Given the description of an element on the screen output the (x, y) to click on. 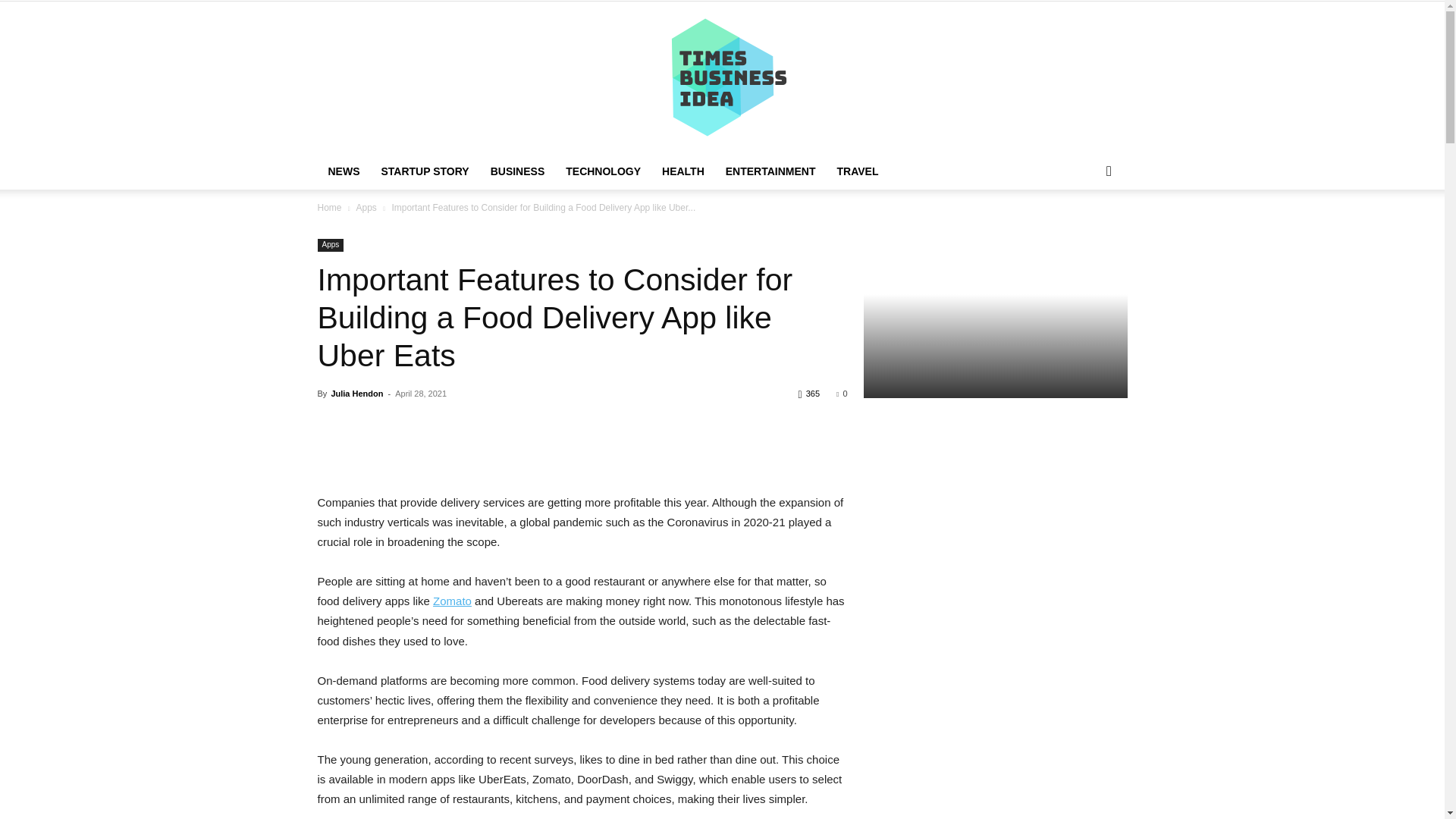
ENTERTAINMENT (770, 171)
Times Business Idea (721, 77)
HEALTH (682, 171)
Apps (330, 245)
Julia Hendon (356, 393)
Search (1085, 232)
TECHNOLOGY (602, 171)
NEWS (343, 171)
BUSINESS (518, 171)
0 (841, 393)
